Given the description of an element on the screen output the (x, y) to click on. 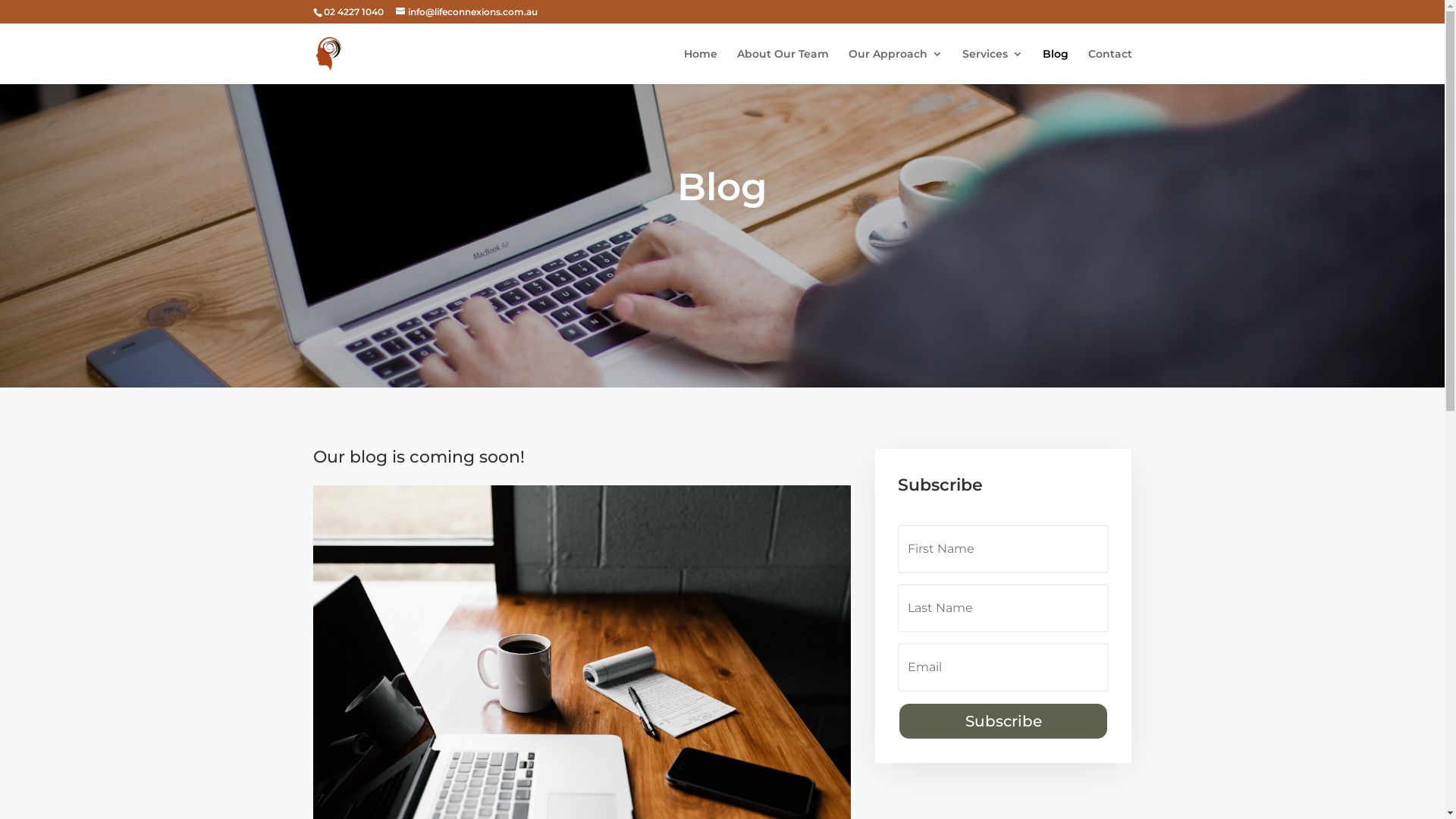
Blog Element type: text (1054, 66)
Services Element type: text (991, 66)
info@lifeconnexions.com.au Element type: text (466, 11)
Subscribe Element type: text (1002, 721)
Home Element type: text (700, 66)
Our Approach Element type: text (894, 66)
About Our Team Element type: text (782, 66)
Contact Element type: text (1109, 66)
